Given the description of an element on the screen output the (x, y) to click on. 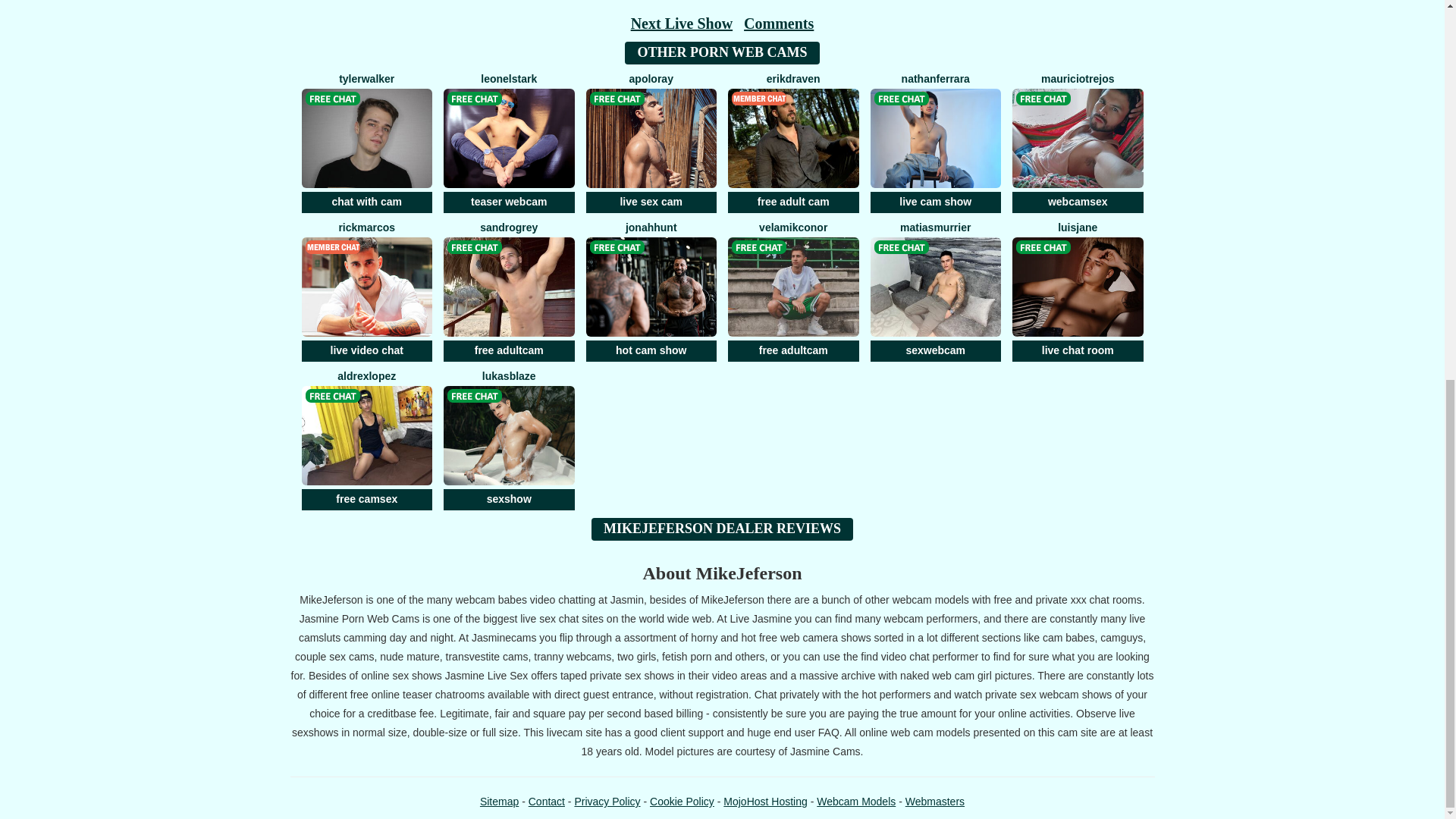
ApoloRay (650, 146)
Privacy Policy (606, 801)
MatiasMurrier (935, 294)
RickMarcos (366, 294)
JonahHunt (650, 294)
Cookie Policy (681, 801)
SandroGrey (509, 294)
LuisJane (1078, 294)
LukasBlaze (509, 443)
NathanFerrara (935, 146)
LeonelStark (509, 146)
VelamikConor (793, 294)
ErikDraven (793, 146)
TylerWalker (366, 146)
AldrexLopez (366, 443)
